Given the description of an element on the screen output the (x, y) to click on. 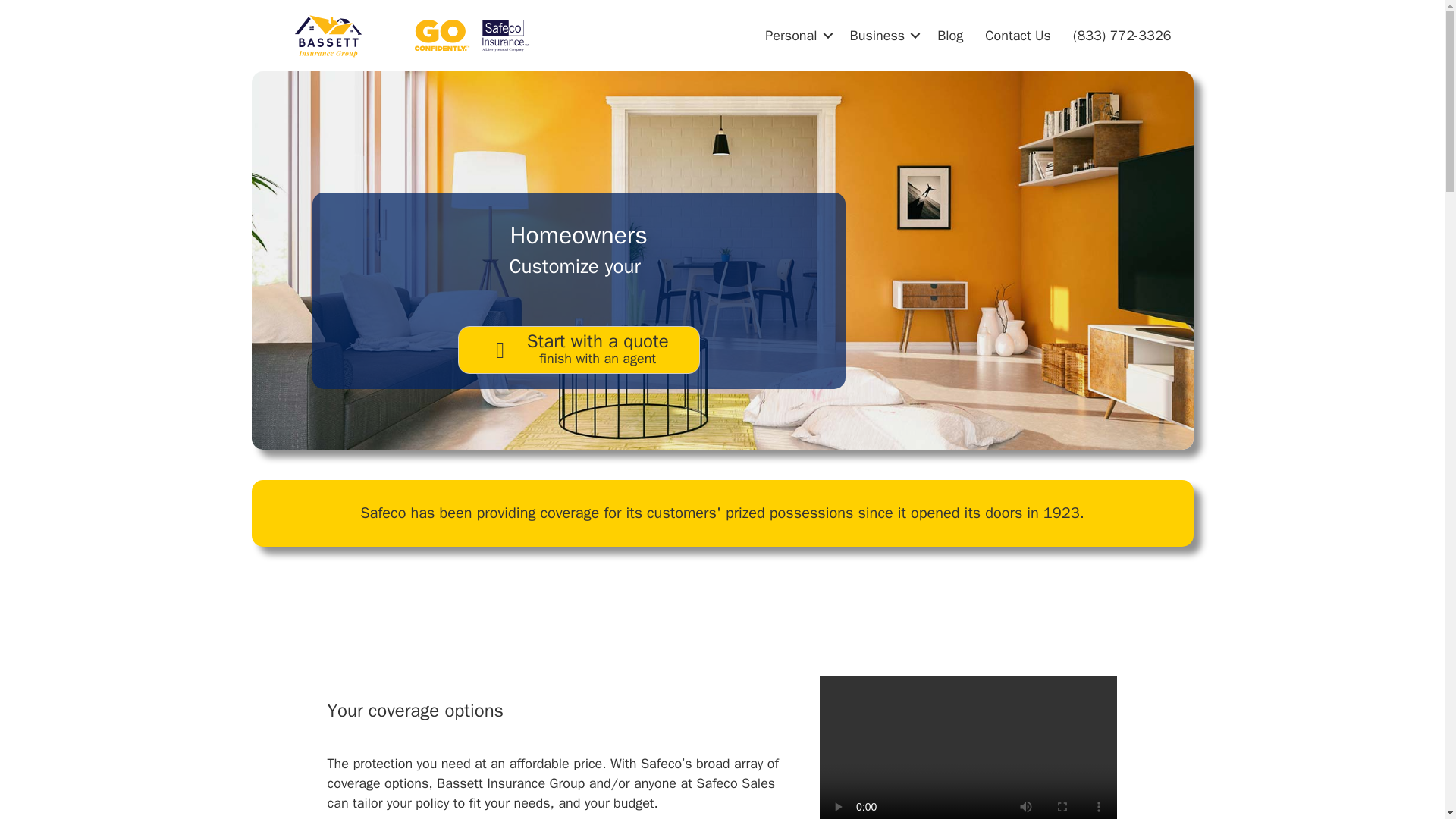
BIG.Logo.White.SVG.reduced.height-01 (327, 35)
Business (579, 349)
Contact Us (883, 35)
Safeco GO Confidently and Vertical New Blue 2020-01 (1017, 35)
Blog (471, 35)
Personal (950, 35)
